Given the description of an element on the screen output the (x, y) to click on. 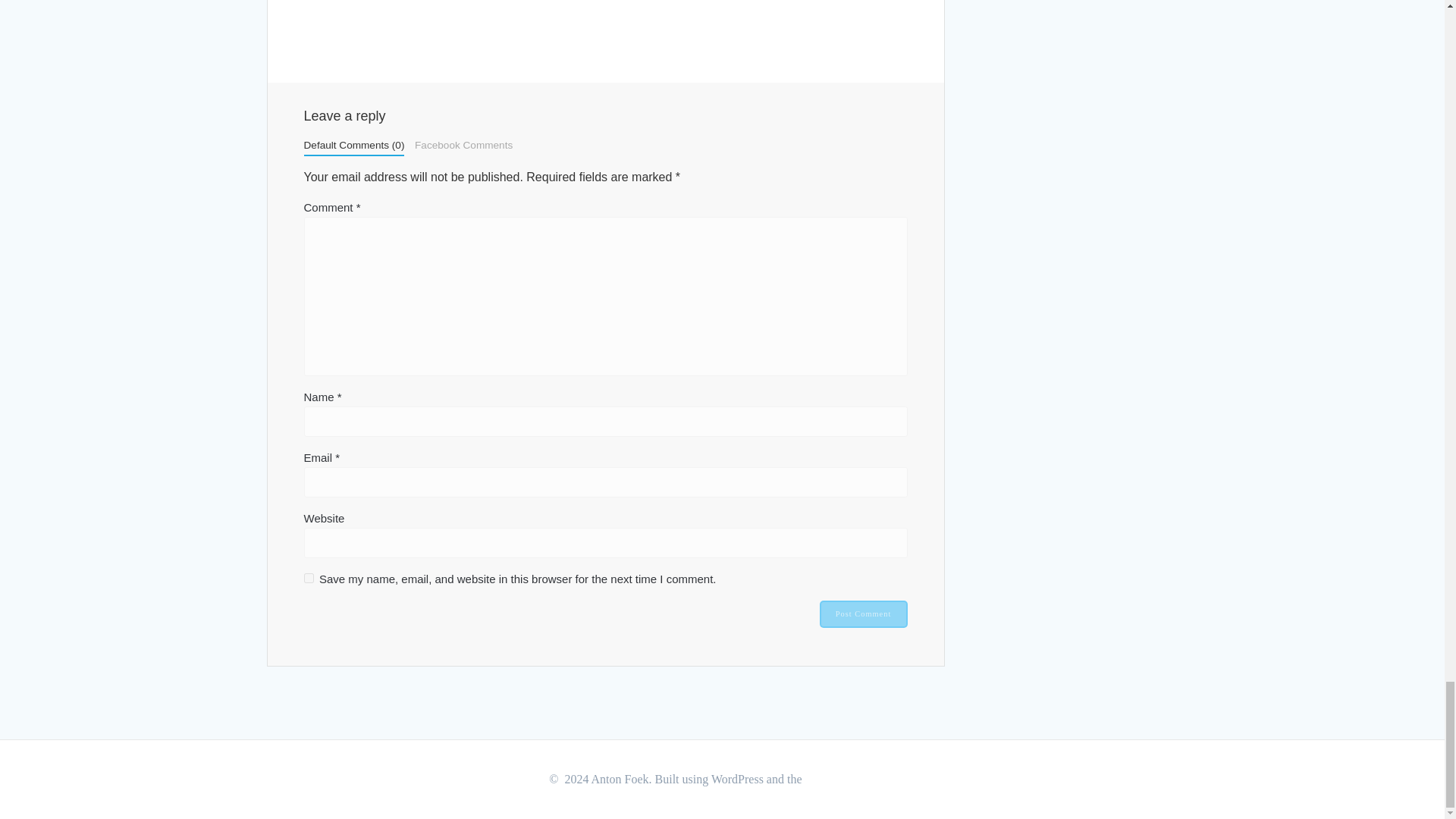
Post Comment (863, 614)
yes (307, 578)
